Given the description of an element on the screen output the (x, y) to click on. 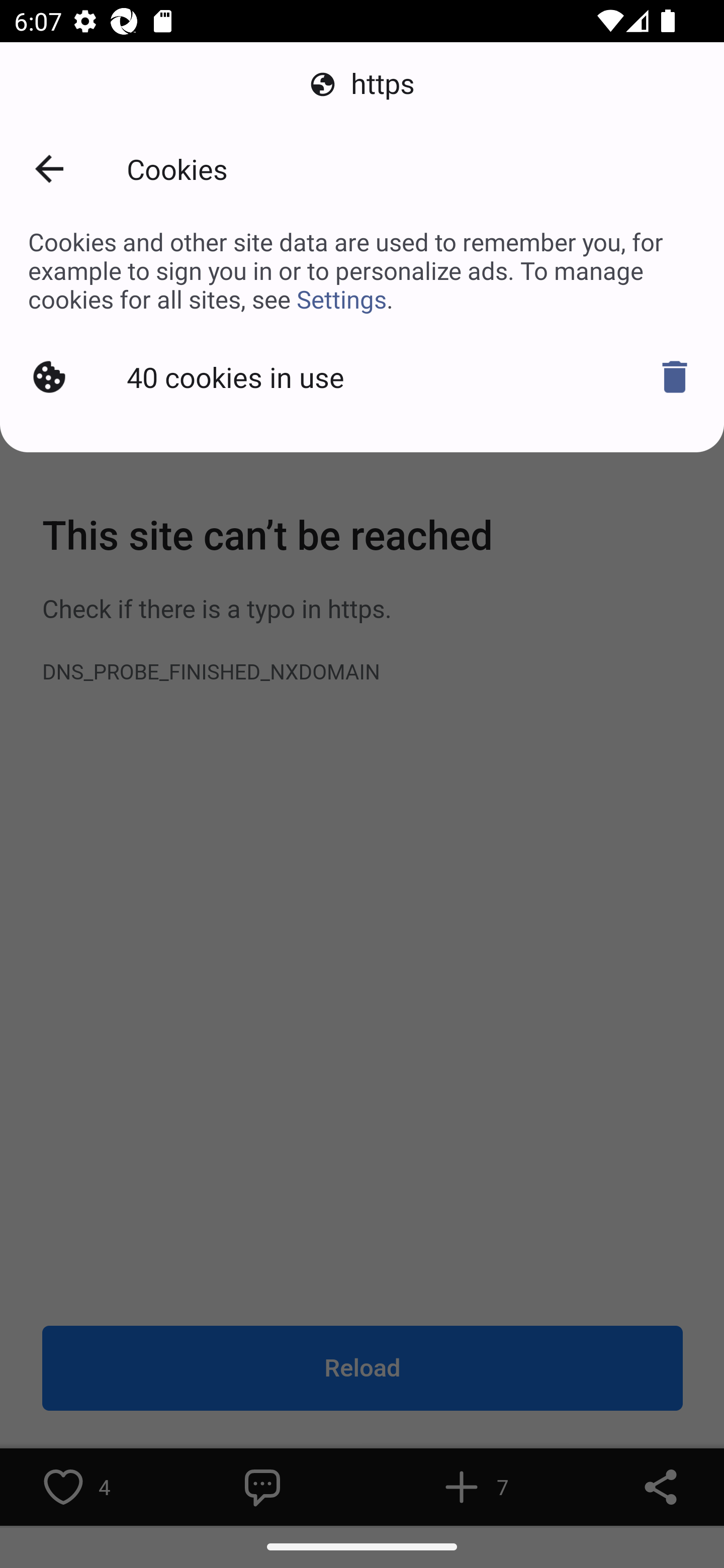
https (362, 84)
Back (49, 169)
40 cookies in use Clear cookies? (362, 376)
